Given the description of an element on the screen output the (x, y) to click on. 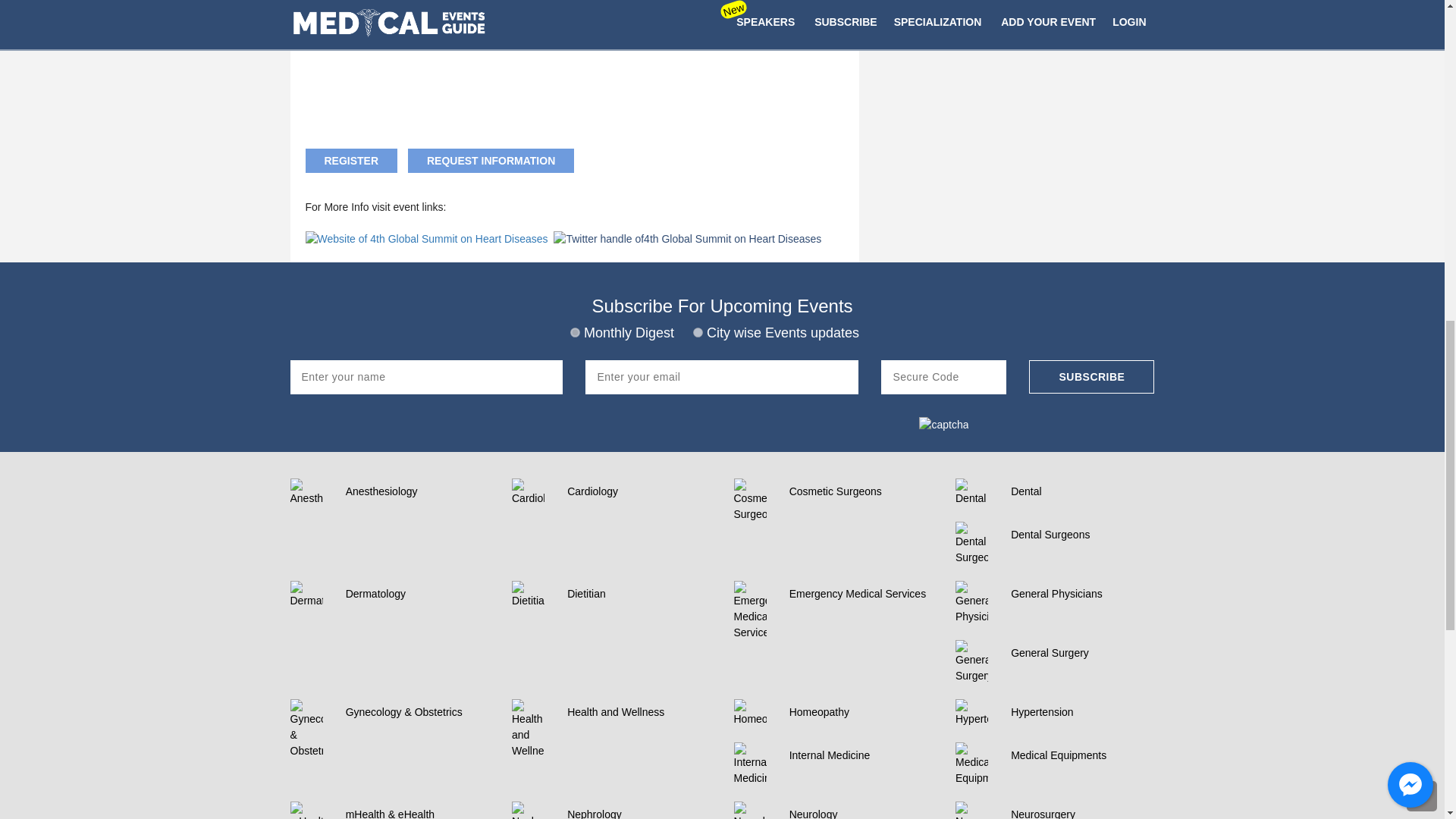
General Physicians (1082, 593)
Website of 4th Global Summit on Heart Diseases (425, 238)
Dermatology (417, 593)
Dietitian (638, 593)
monthy (574, 332)
Cardiology (638, 491)
Twitter handle of4th Global Summit on Heart Diseases (687, 237)
Anesthesiology (417, 491)
Website of 4th Global Summit on Heart Diseases (427, 237)
Dental Surgeons (1082, 534)
